Given the description of an element on the screen output the (x, y) to click on. 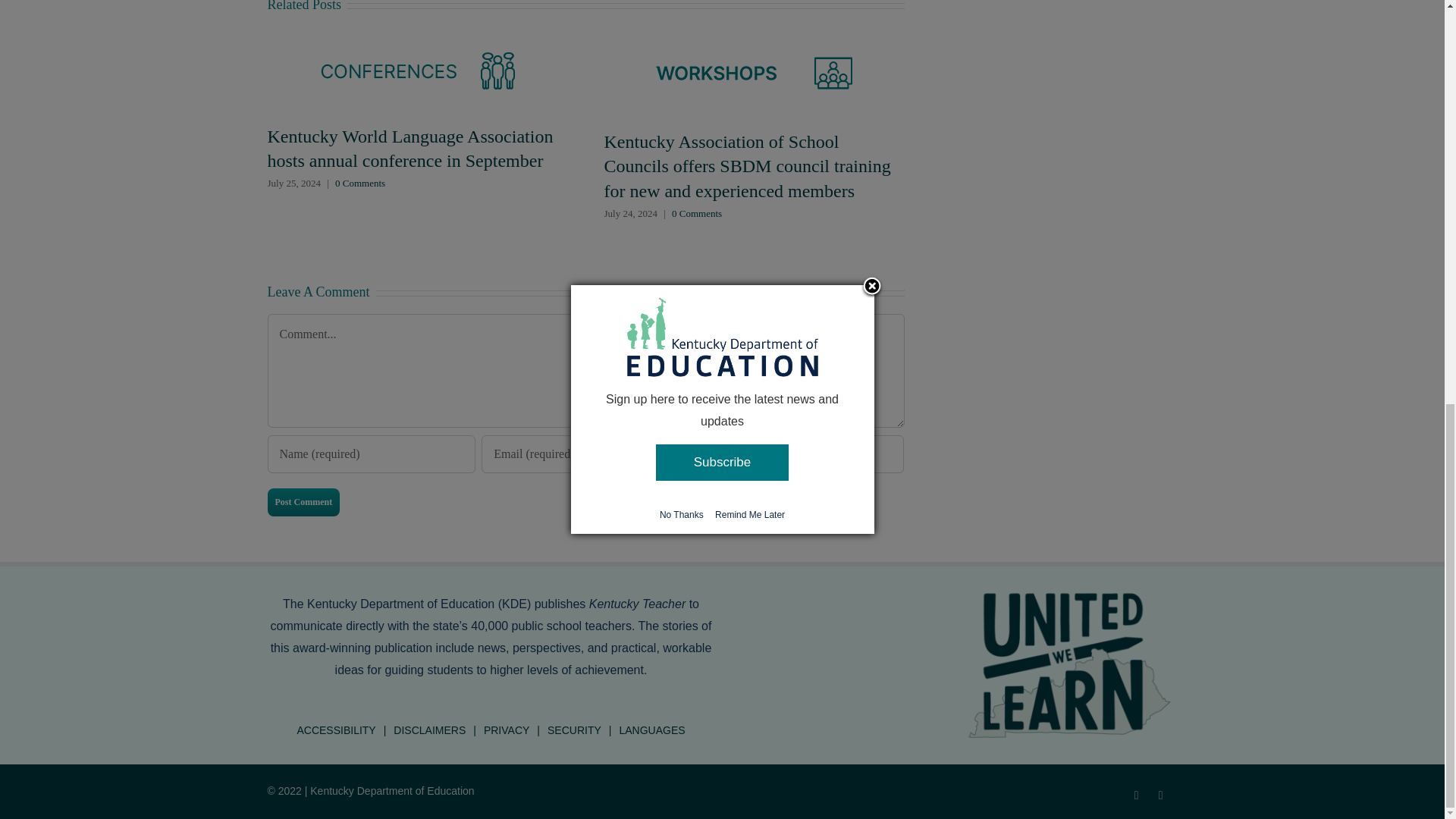
Post Comment (302, 502)
